Given the description of an element on the screen output the (x, y) to click on. 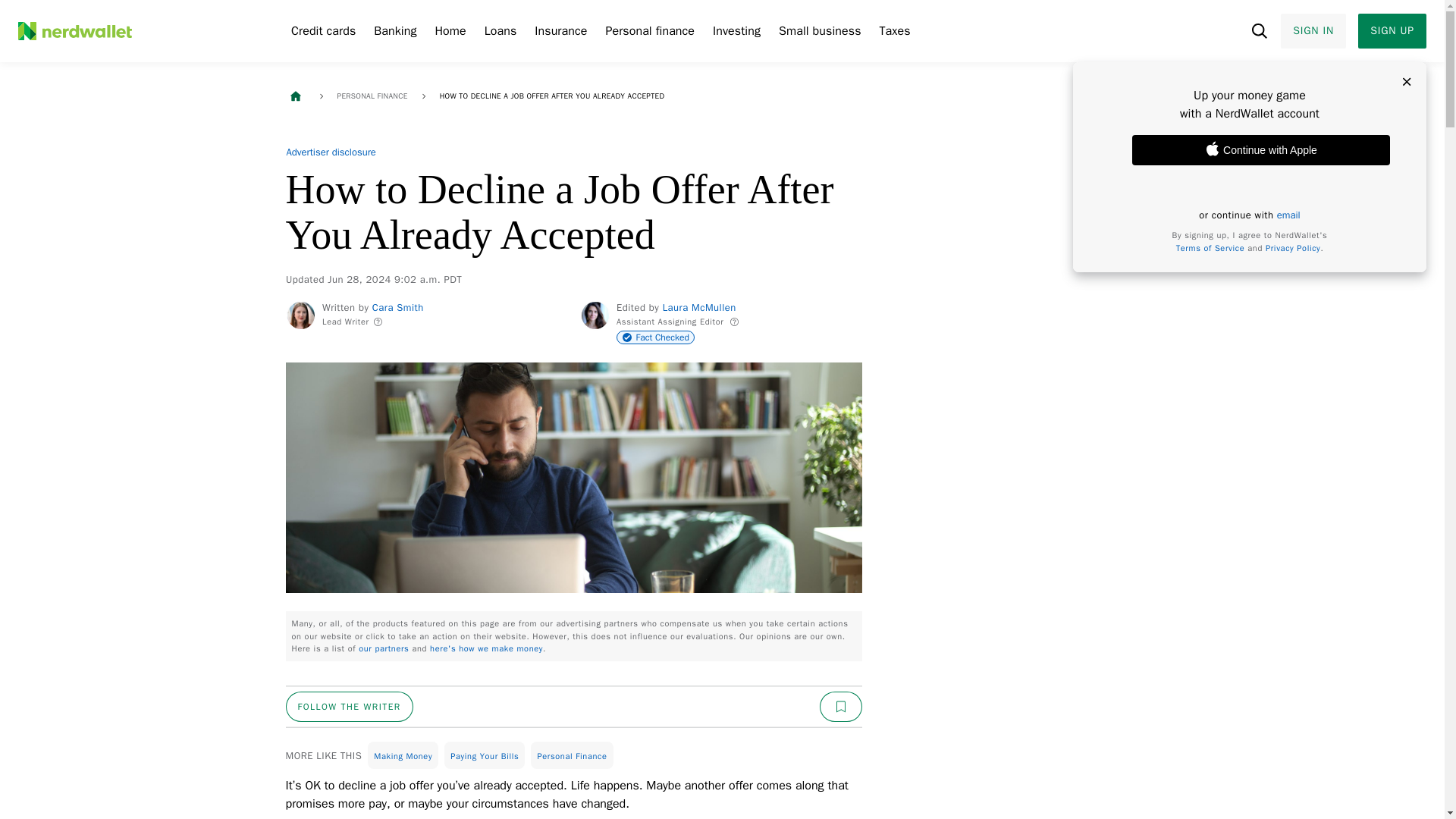
Back to NerdWallet homepage (294, 96)
Advertiser Disclosure (330, 152)
How to Decline a Job Offer After You Already Accepted (552, 95)
